Given the description of an element on the screen output the (x, y) to click on. 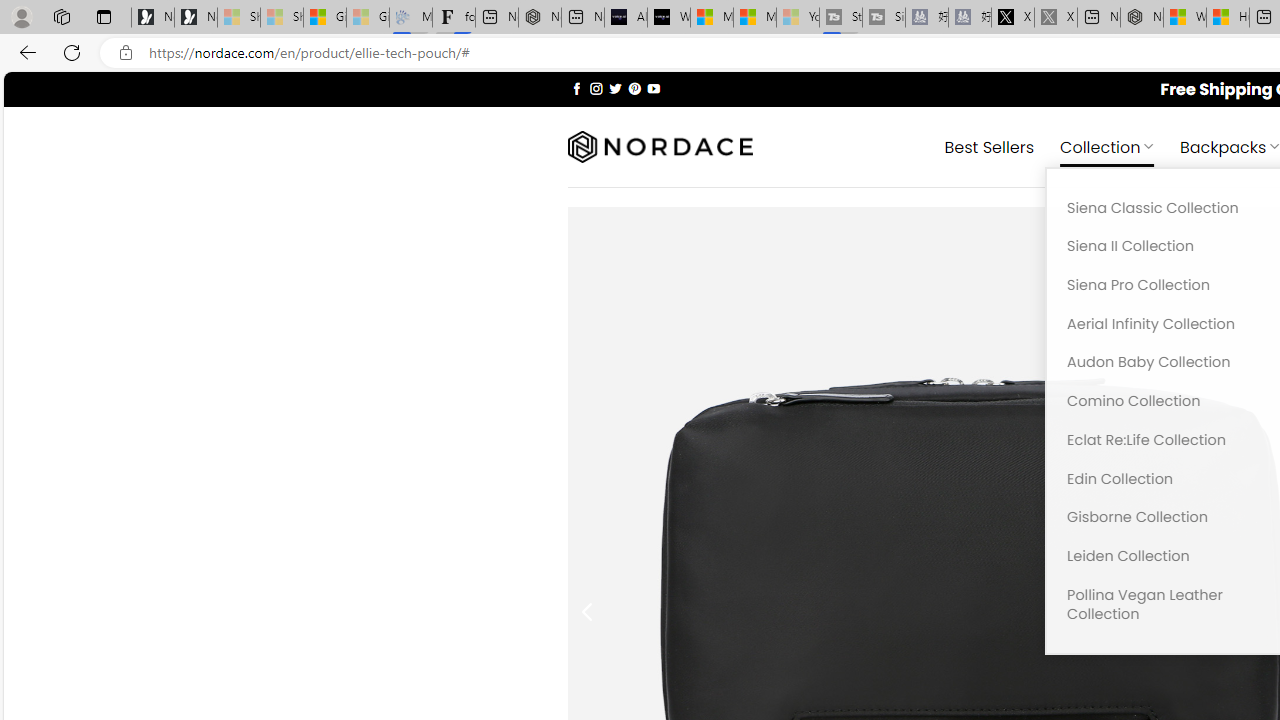
Follow on Instagram (596, 88)
Back (24, 52)
Nordace (659, 147)
What's the best AI voice generator? - voice.ai (668, 17)
X (1013, 17)
